Given the description of an element on the screen output the (x, y) to click on. 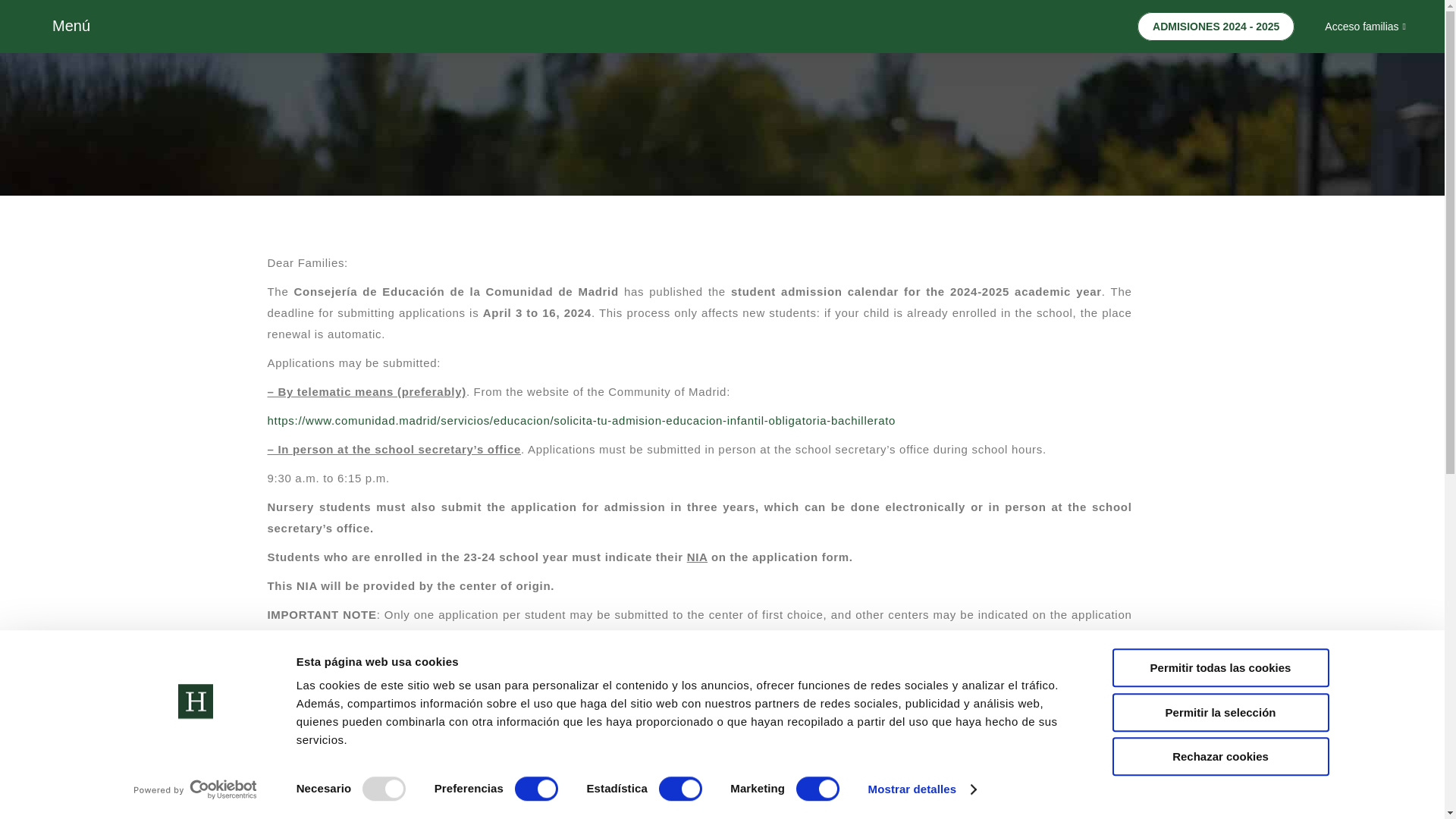
Rechazar cookies (1219, 756)
Mostrar detalles (921, 789)
Permitir todas las cookies (1219, 667)
